Given the description of an element on the screen output the (x, y) to click on. 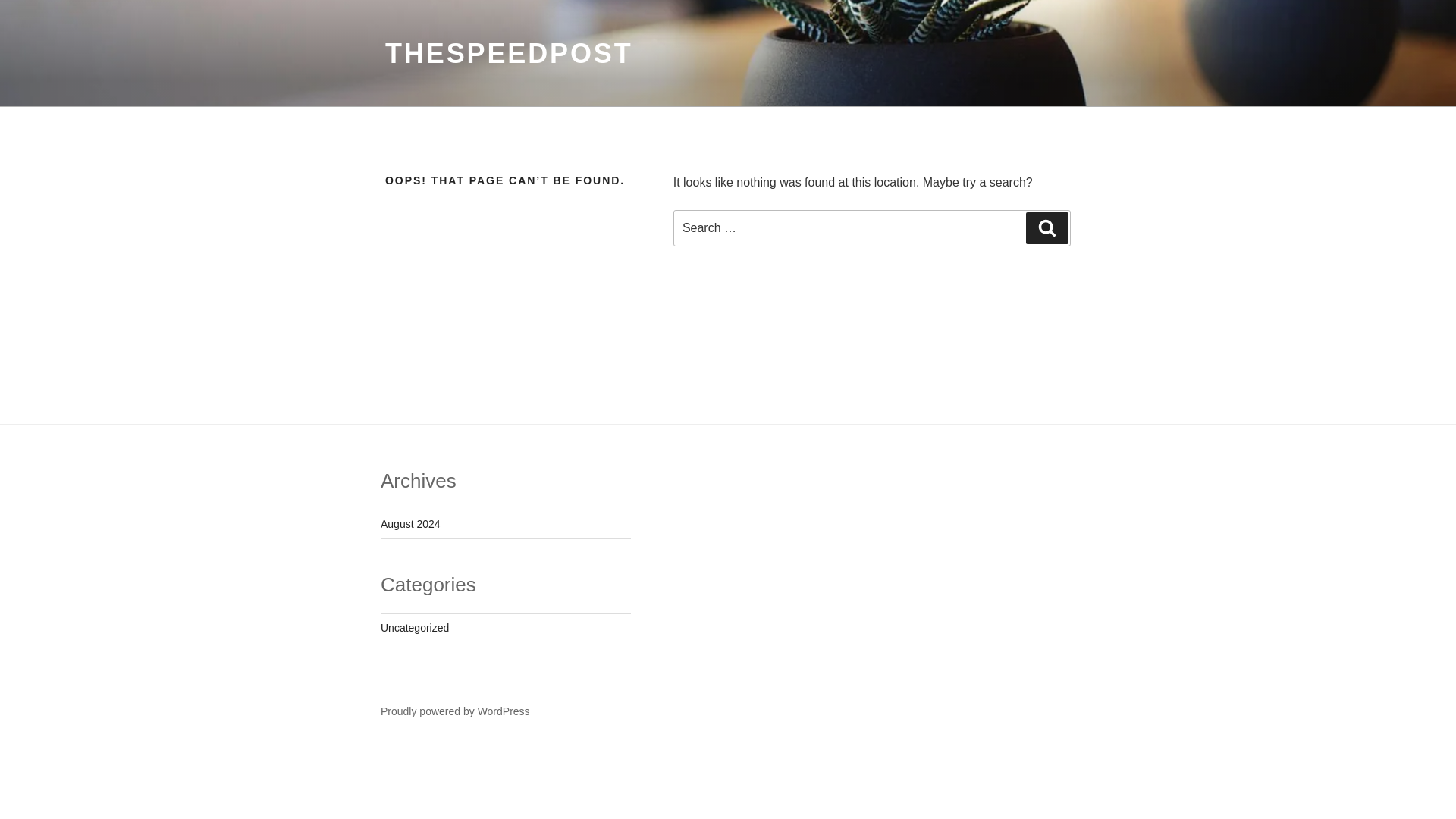
THESPEEDPOST (509, 52)
Search (1047, 228)
Proudly powered by WordPress (454, 711)
Uncategorized (414, 627)
August 2024 (410, 523)
